Given the description of an element on the screen output the (x, y) to click on. 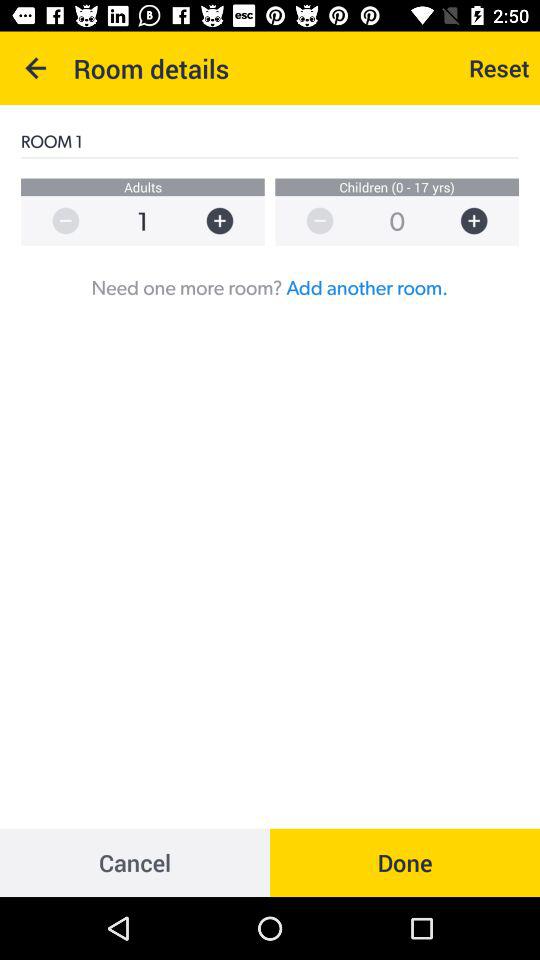
press reset icon (499, 67)
